Given the description of an element on the screen output the (x, y) to click on. 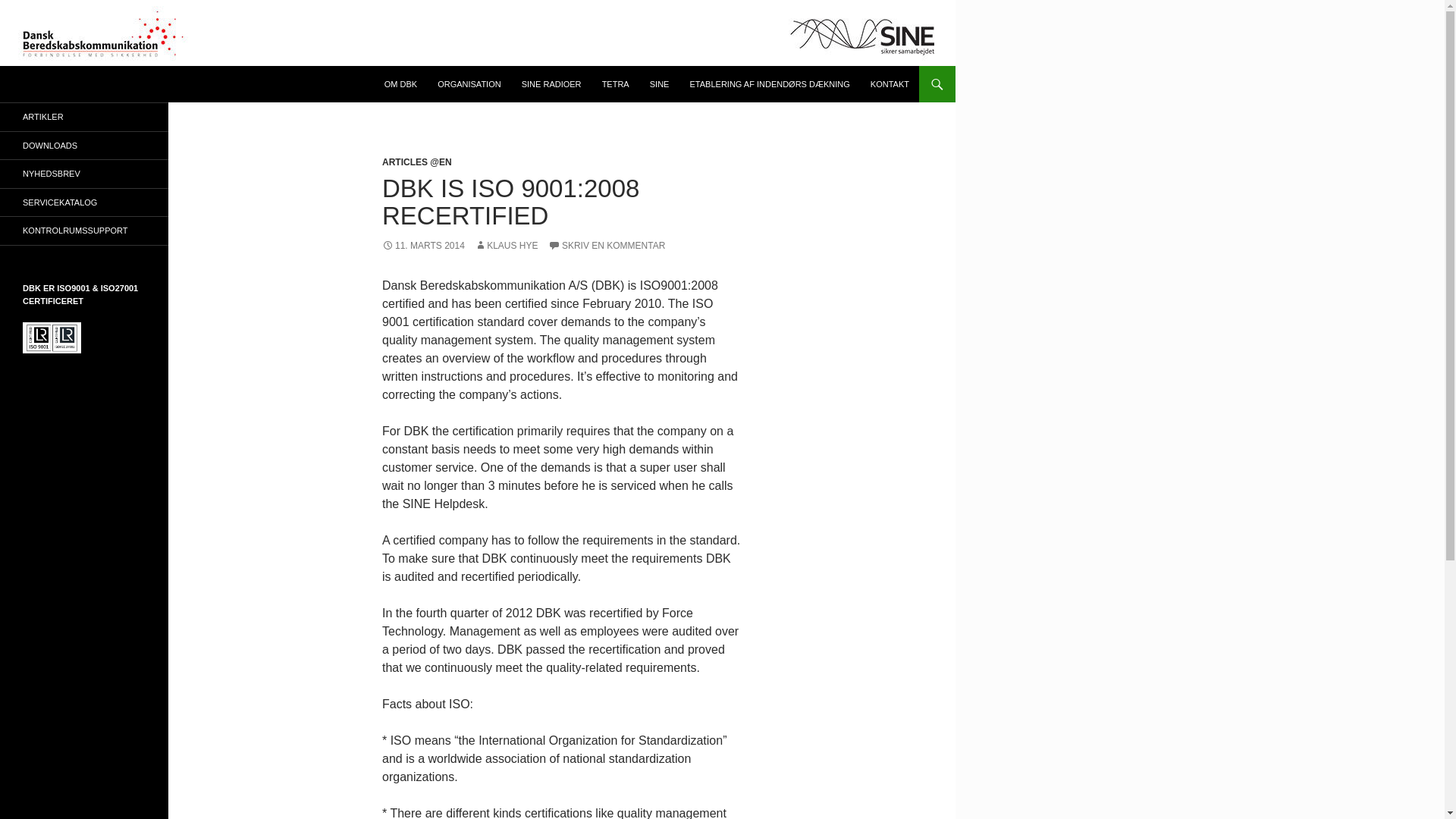
ARTIKLER (84, 117)
KONTROLRUMSSUPPORT (84, 230)
NYHEDSBREV (84, 173)
TETRA (615, 84)
SERVICEKATALOG (84, 202)
DOWNLOADS (84, 145)
KONTAKT (889, 84)
11. MARTS 2014 (422, 245)
SINE (659, 84)
SKRIV EN KOMMENTAR (606, 245)
ORGANISATION (469, 84)
SINE RADIOER (551, 84)
OM DBK (400, 84)
DANSK BEREDSKABSKOMMUNIKATION (155, 84)
